Given the description of an element on the screen output the (x, y) to click on. 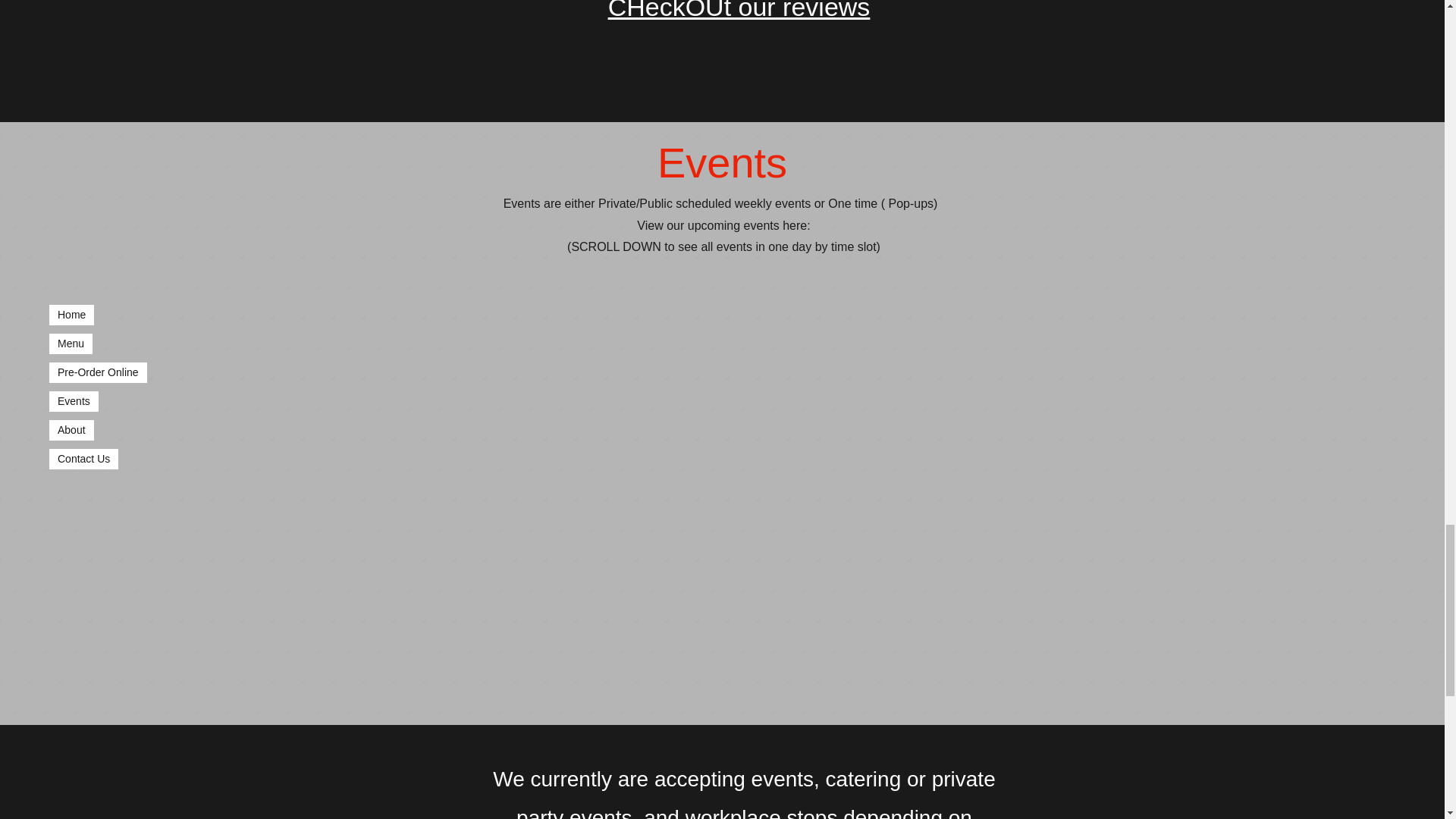
CHeckOUt our reviews (739, 10)
